Given the description of an element on the screen output the (x, y) to click on. 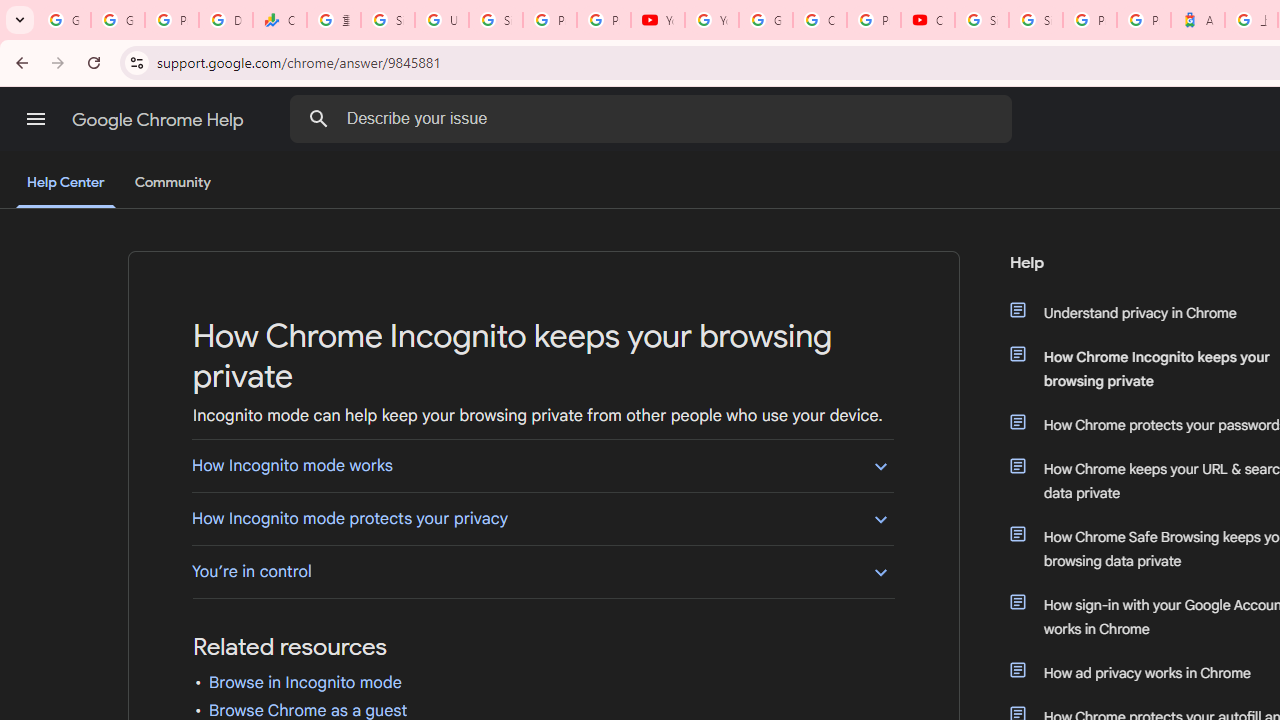
Google Account Help (765, 20)
Create your Google Account (819, 20)
YouTube (657, 20)
Privacy Checkup (604, 20)
